Given the description of an element on the screen output the (x, y) to click on. 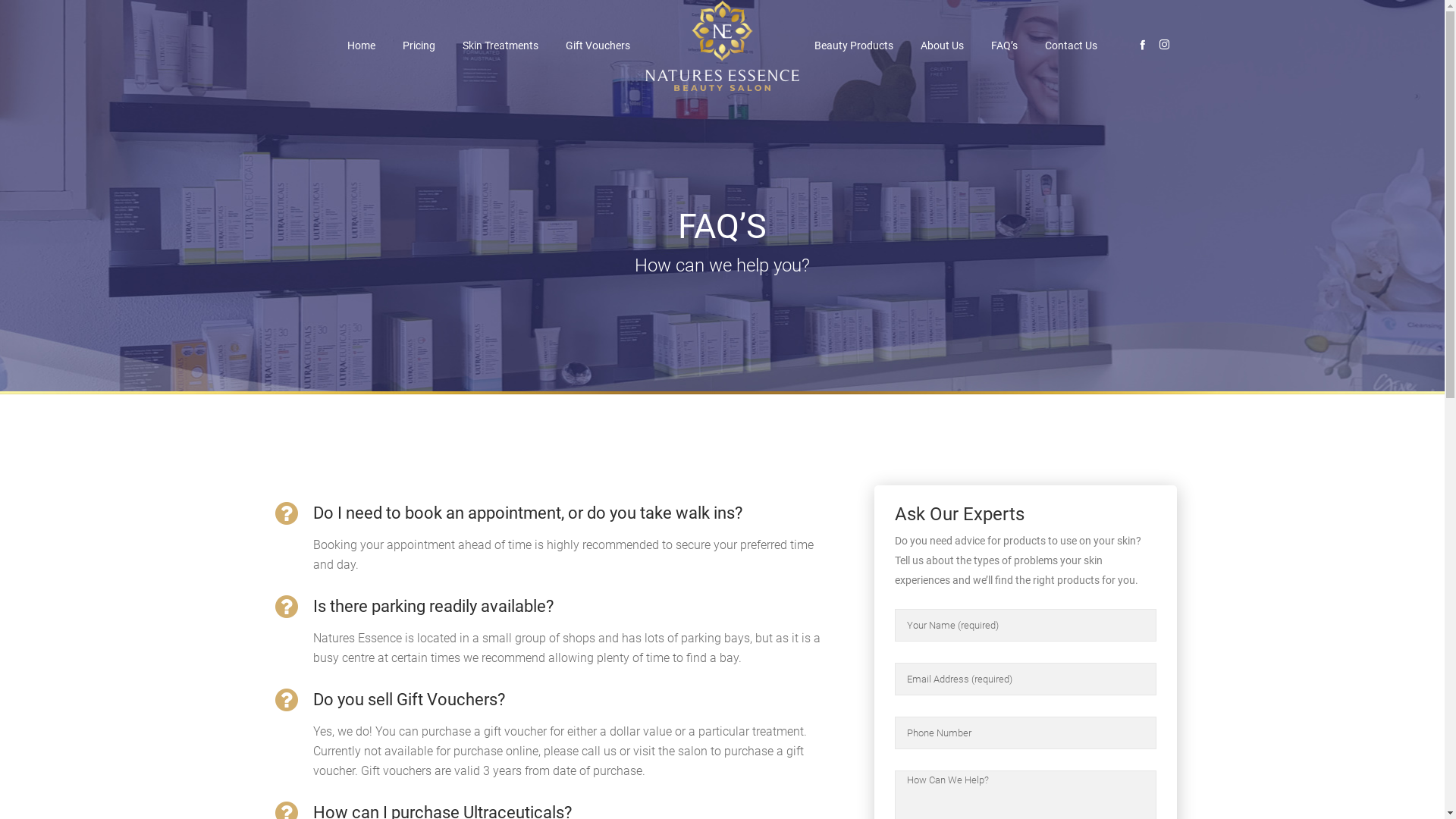
Pricing Element type: text (418, 45)
Site logo Element type: hover (722, 45)
Search Element type: text (1071, 412)
Skin Treatments Element type: text (500, 45)
Contact Us Element type: text (1070, 45)
Facebook Element type: hover (1142, 44)
Instagram Element type: hover (1163, 44)
About Us Element type: text (941, 45)
Home Element type: text (361, 45)
Beauty Products Element type: text (853, 45)
Gift Vouchers Element type: text (597, 45)
